Given the description of an element on the screen output the (x, y) to click on. 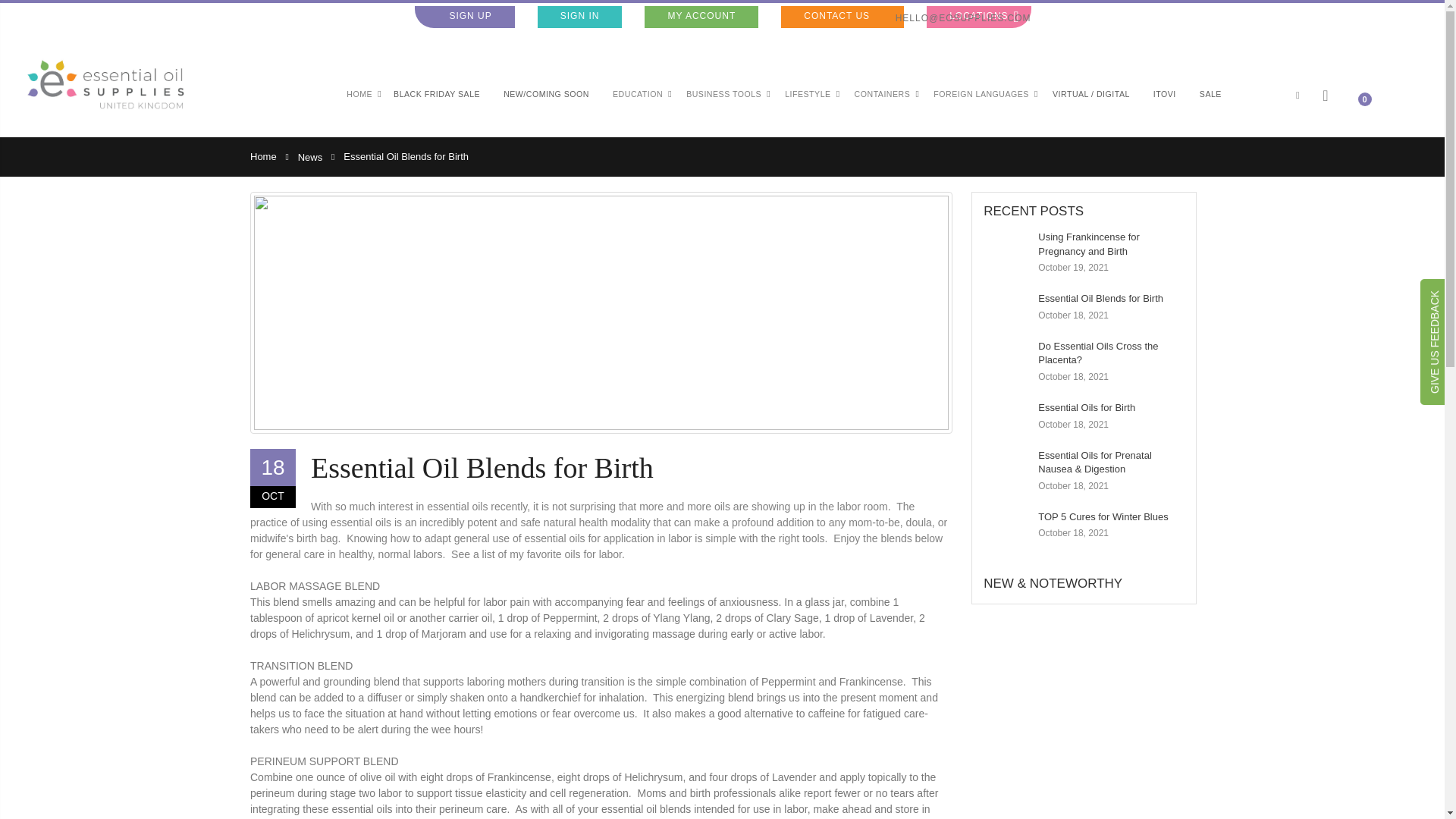
CONTACT US (842, 16)
BLACK FRIDAY SALE (436, 94)
LOCATIONS (978, 16)
SIGN UP (463, 16)
EDUCATION (637, 94)
Back to the frontpage (263, 156)
MY ACCOUNT (701, 16)
SIGN IN (580, 16)
HOME (359, 94)
